Given the description of an element on the screen output the (x, y) to click on. 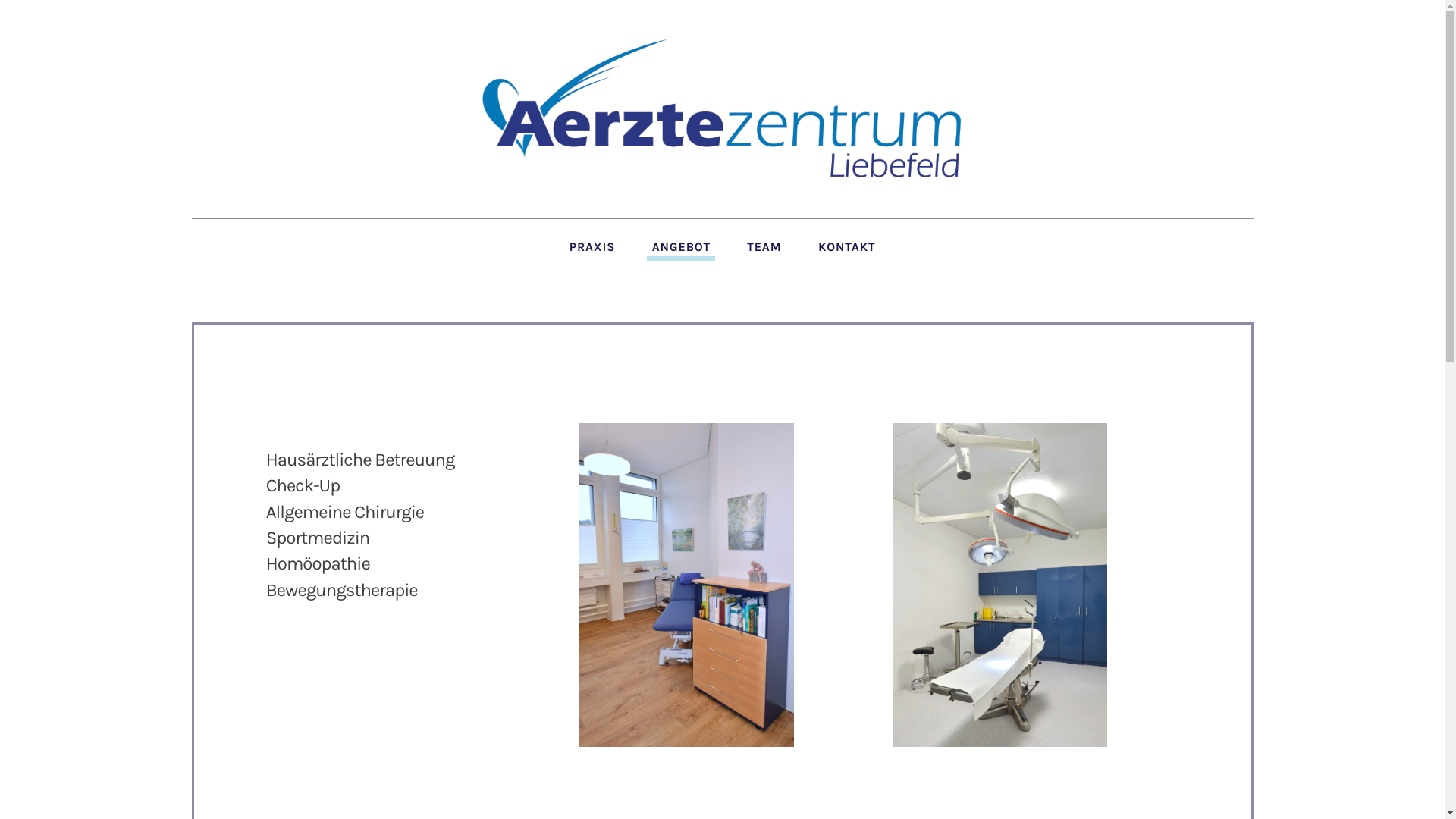
Aerztezentrum Liebefeld Element type: hover (722, 107)
KONTAKT Element type: text (846, 247)
ANGEBOT Element type: text (680, 247)
TEAM Element type: text (764, 247)
PRAXIS Element type: text (591, 247)
